Given the description of an element on the screen output the (x, y) to click on. 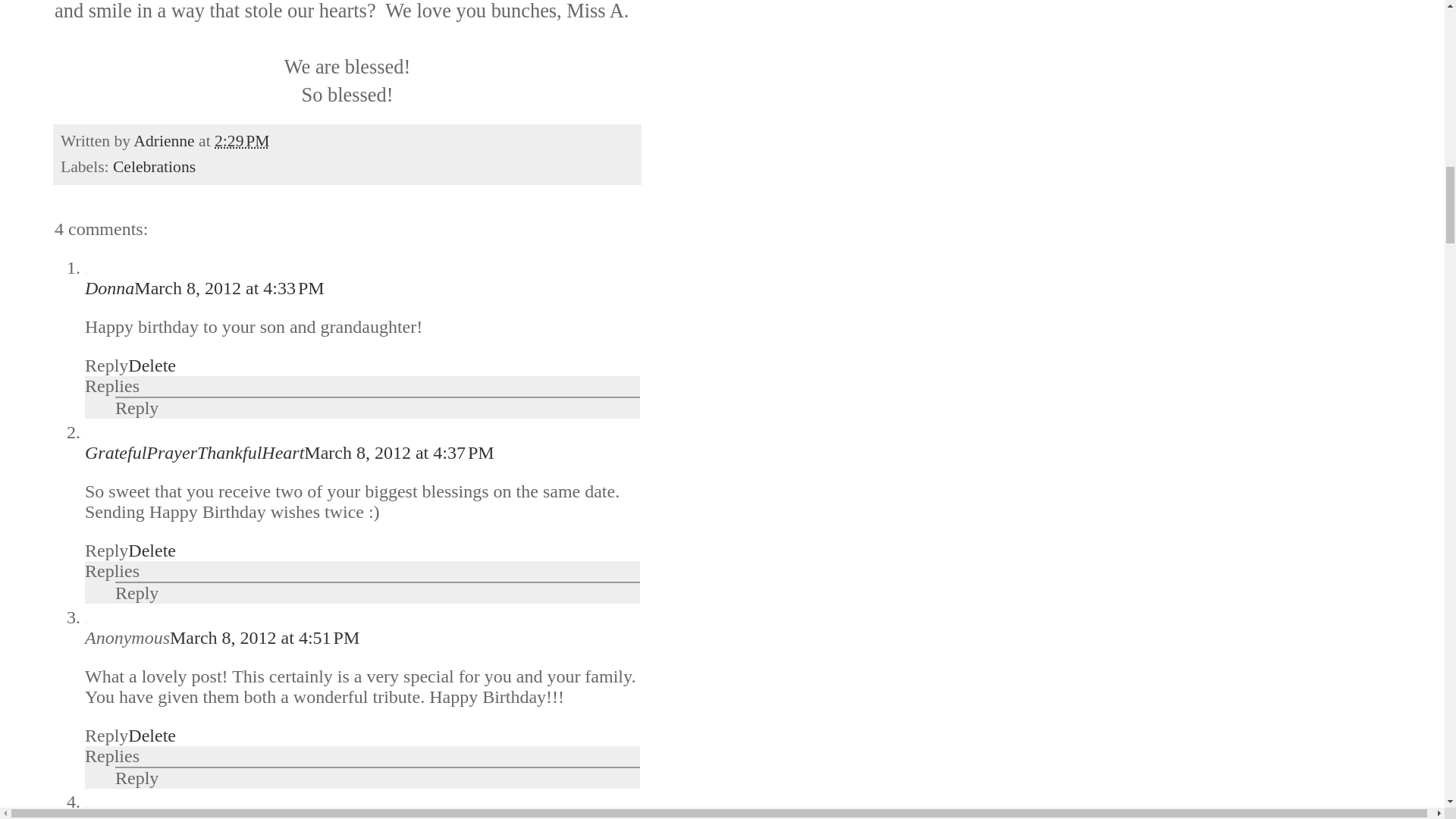
Delete (152, 550)
Reply (136, 777)
Creations By Cindy (155, 815)
Replies (111, 385)
Delete (152, 365)
Celebrations (154, 167)
Delete (152, 735)
Reply (136, 592)
permanent link (241, 140)
author profile (165, 140)
Replies (111, 755)
Replies (111, 570)
Reply (136, 407)
